Given the description of an element on the screen output the (x, y) to click on. 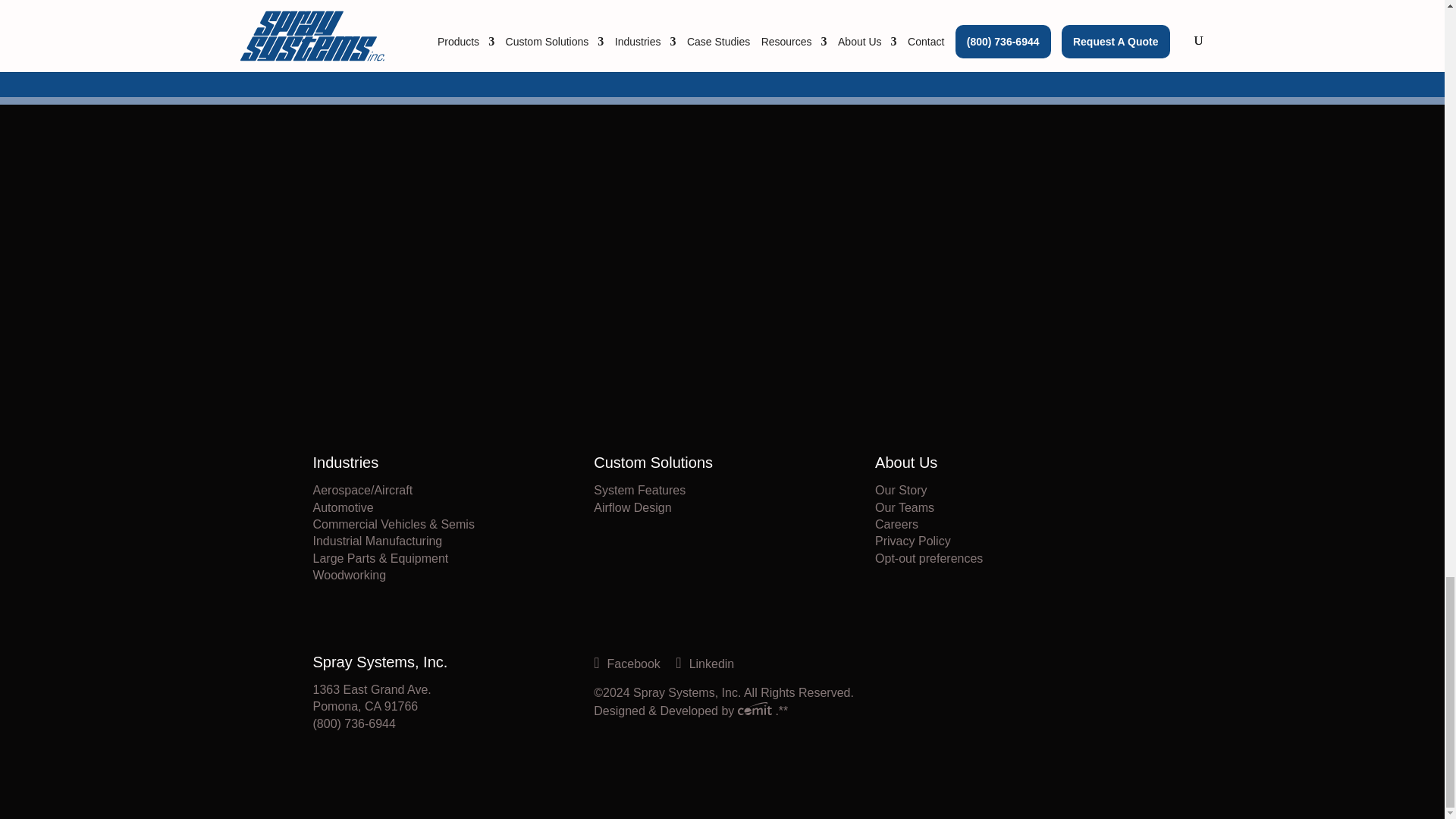
Web Design Lafayette Louisiana (757, 710)
